Given the description of an element on the screen output the (x, y) to click on. 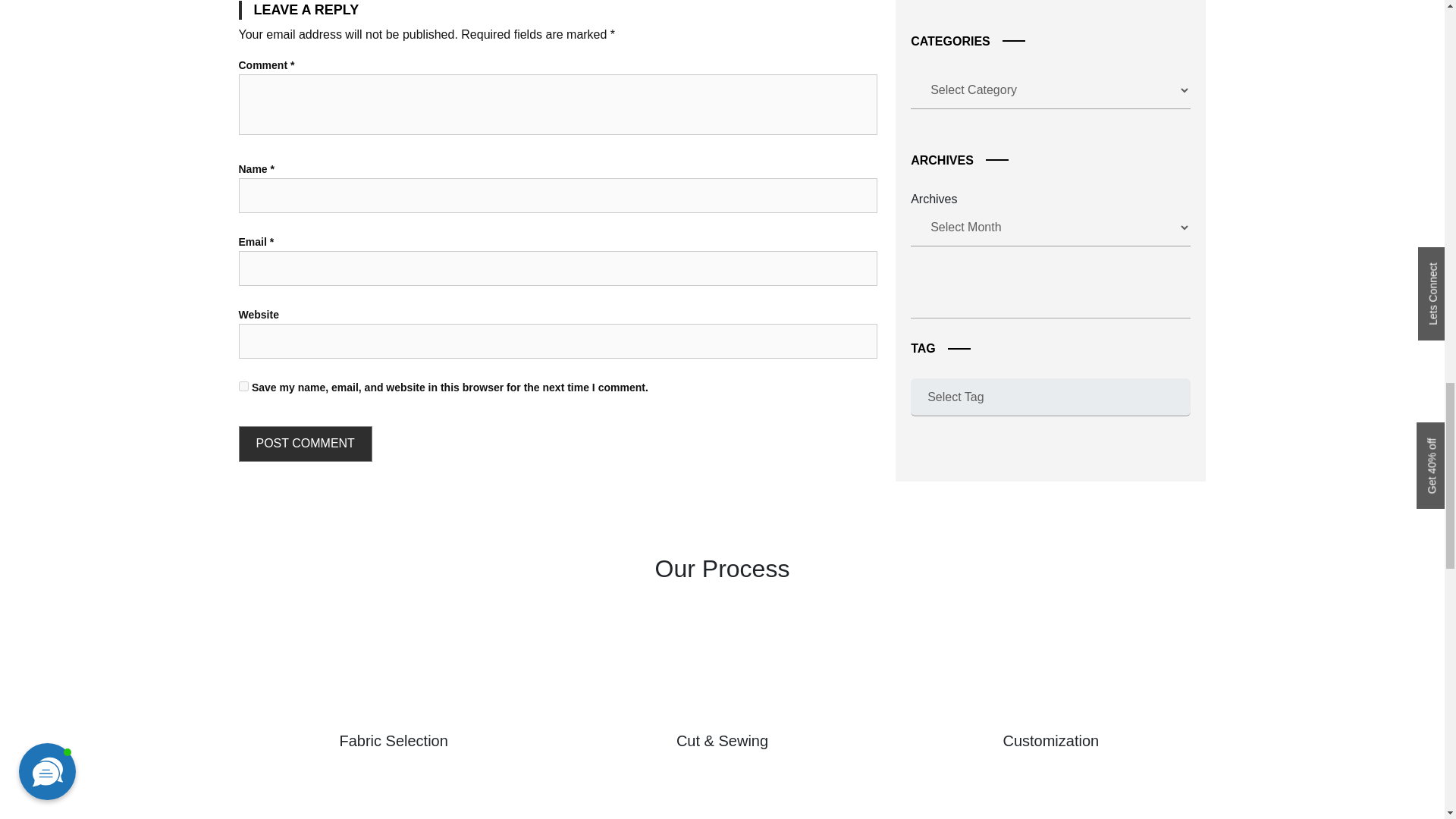
Post Comment (304, 443)
yes (242, 386)
